Given the description of an element on the screen output the (x, y) to click on. 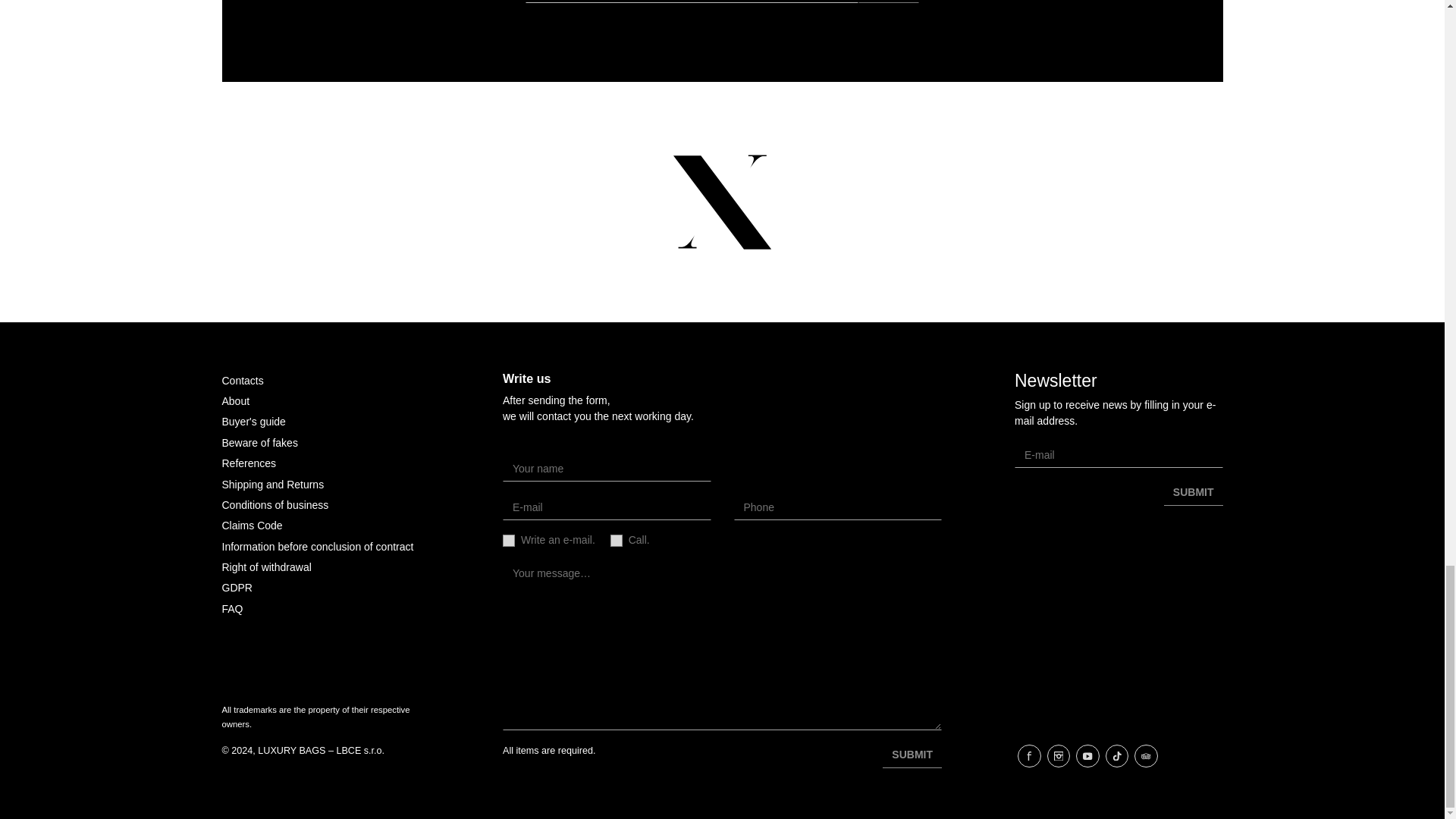
Youtube (1087, 756)
Instagram (1058, 756)
Facebook (1029, 756)
TikTok (1117, 756)
Tripadvisor (1145, 756)
